Given the description of an element on the screen output the (x, y) to click on. 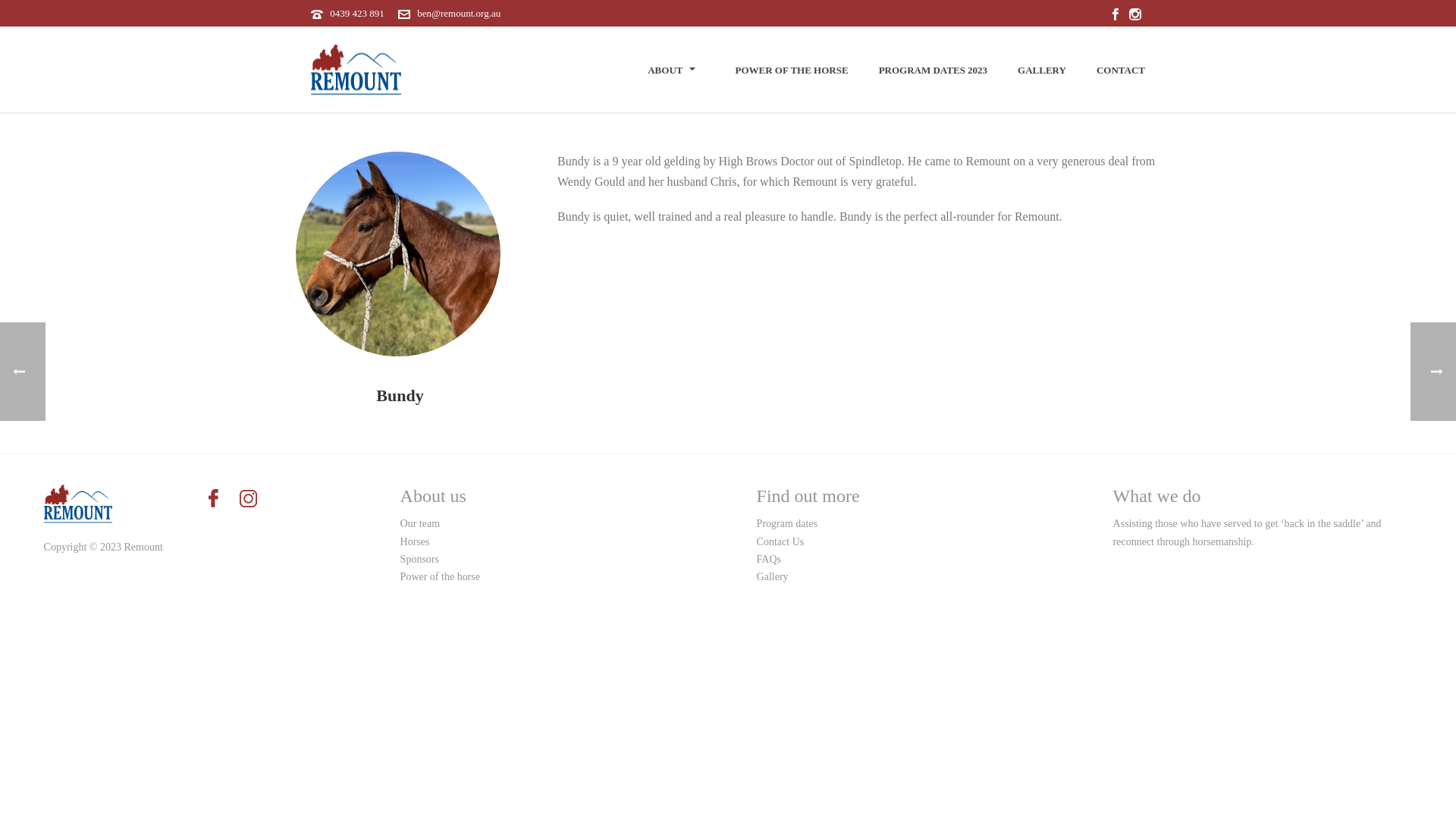
POWER OF THE HORSE Element type: text (790, 70)
Our team Element type: text (419, 523)
Contact Us Element type: text (780, 541)
ABOUT Element type: text (675, 70)
Gallery Element type: text (772, 576)
Sponsors Element type: text (419, 558)
Horses Element type: text (414, 541)
GALLERY Element type: text (1041, 70)
FAQs Element type: text (768, 558)
ben@remount.org.au Element type: text (458, 12)
CONTACT Element type: text (1120, 70)
Program dates Element type: text (786, 523)
PROGRAM DATES 2023 Element type: text (932, 70)
Power of the horse Element type: text (440, 576)
0439 423 891 Element type: text (356, 12)
Bundy Element type: hover (397, 253)
